Given the description of an element on the screen output the (x, y) to click on. 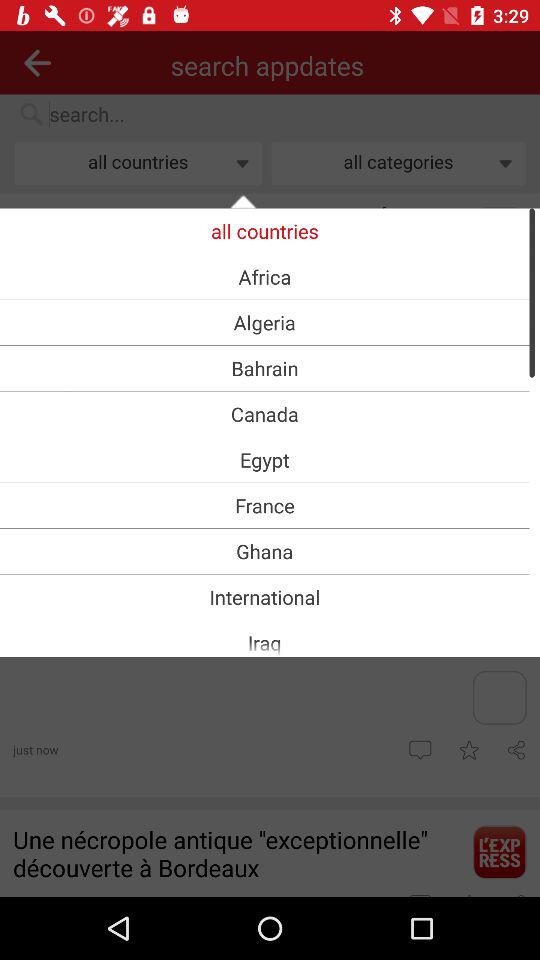
swipe to ghana item (264, 551)
